Given the description of an element on the screen output the (x, y) to click on. 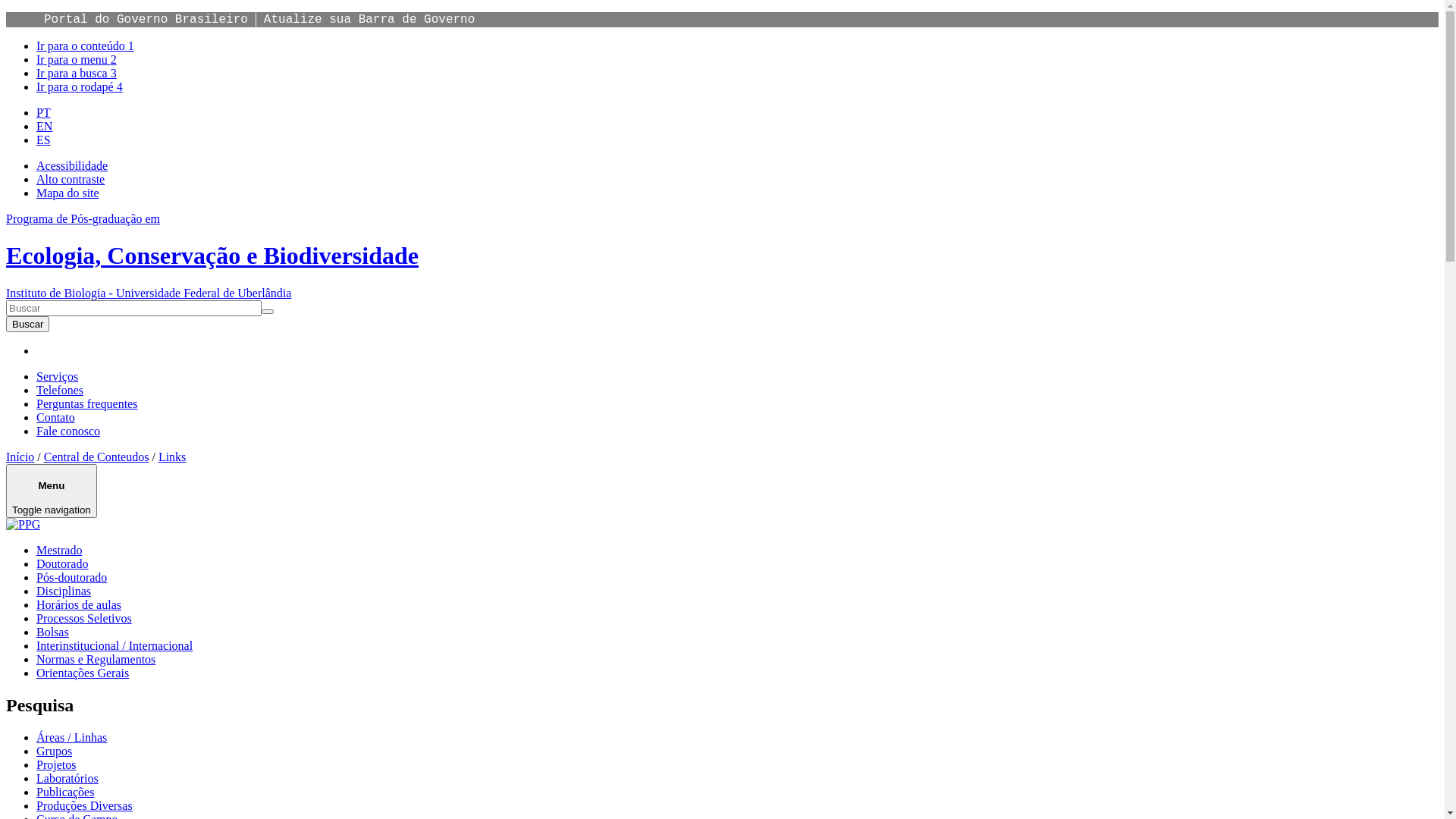
Mestrado Element type: text (58, 549)
Mapa do site Element type: text (67, 192)
Ir para a busca 3 Element type: text (76, 72)
Doutorado Element type: text (61, 563)
Portal do Governo Brasileiro Element type: text (145, 19)
Telefones Element type: text (59, 389)
Central de Conteudos Element type: text (96, 456)
Interinstitucional / Internacional Element type: text (114, 645)
Ir para o menu 2 Element type: text (76, 59)
PT Element type: text (43, 112)
Atualize sua Barra de Governo Element type: text (368, 19)
Normas e Regulamentos Element type: text (95, 658)
ES Element type: text (43, 139)
Alto contraste Element type: text (70, 178)
Menu
Toggle navigation Element type: text (51, 490)
Processos Seletivos Element type: text (83, 617)
Perguntas frequentes Element type: text (86, 403)
Fale conosco Element type: text (68, 430)
Disciplinas Element type: text (63, 590)
Projetos Element type: text (55, 764)
Buscar Element type: text (27, 324)
Acessibilidade Element type: text (71, 165)
Contato Element type: text (55, 417)
Links Element type: text (171, 456)
Bolsas Element type: text (52, 631)
EN Element type: text (44, 125)
Grupos Element type: text (54, 750)
